Given the description of an element on the screen output the (x, y) to click on. 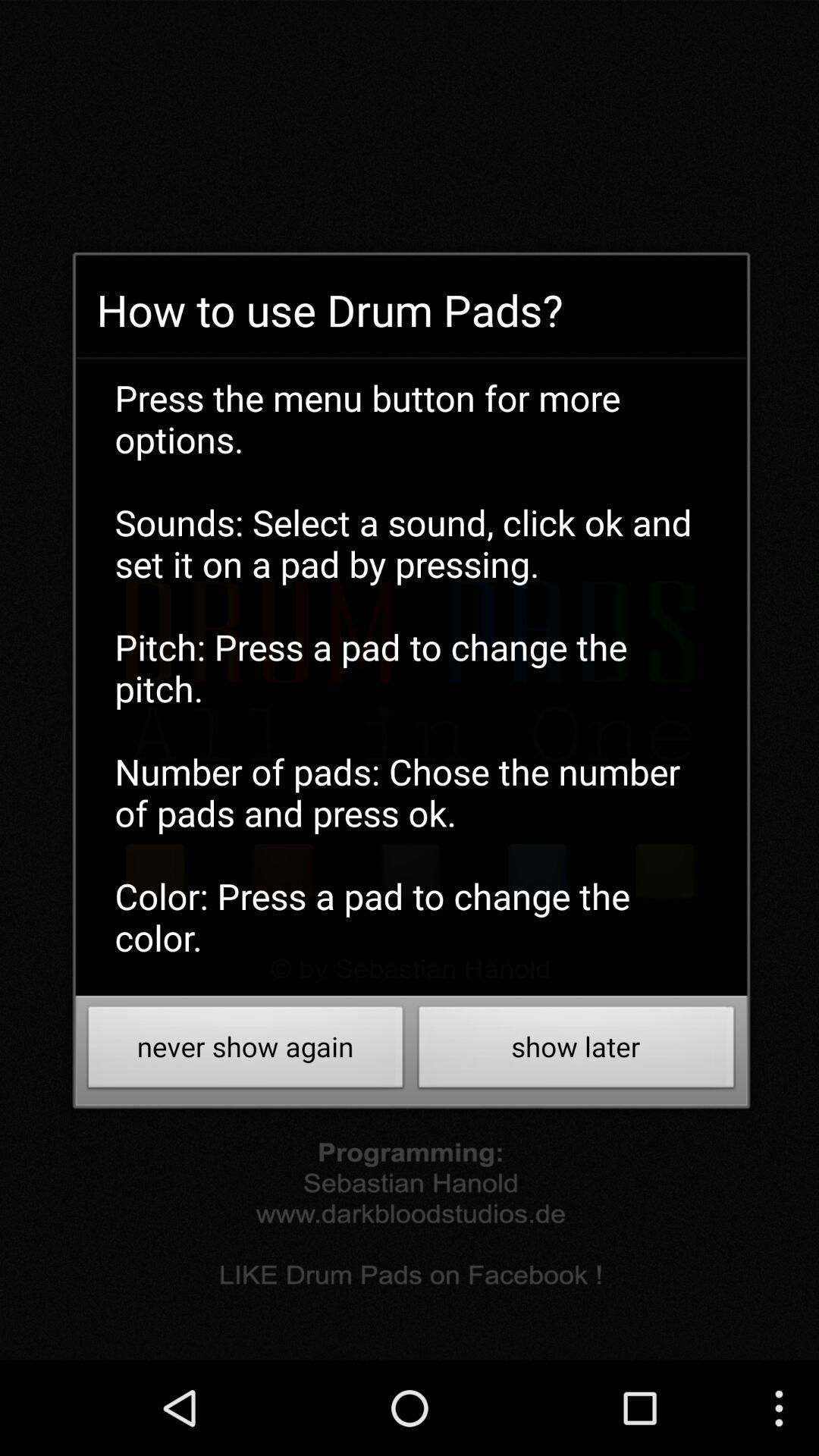
select the icon at the bottom right corner (576, 1051)
